Given the description of an element on the screen output the (x, y) to click on. 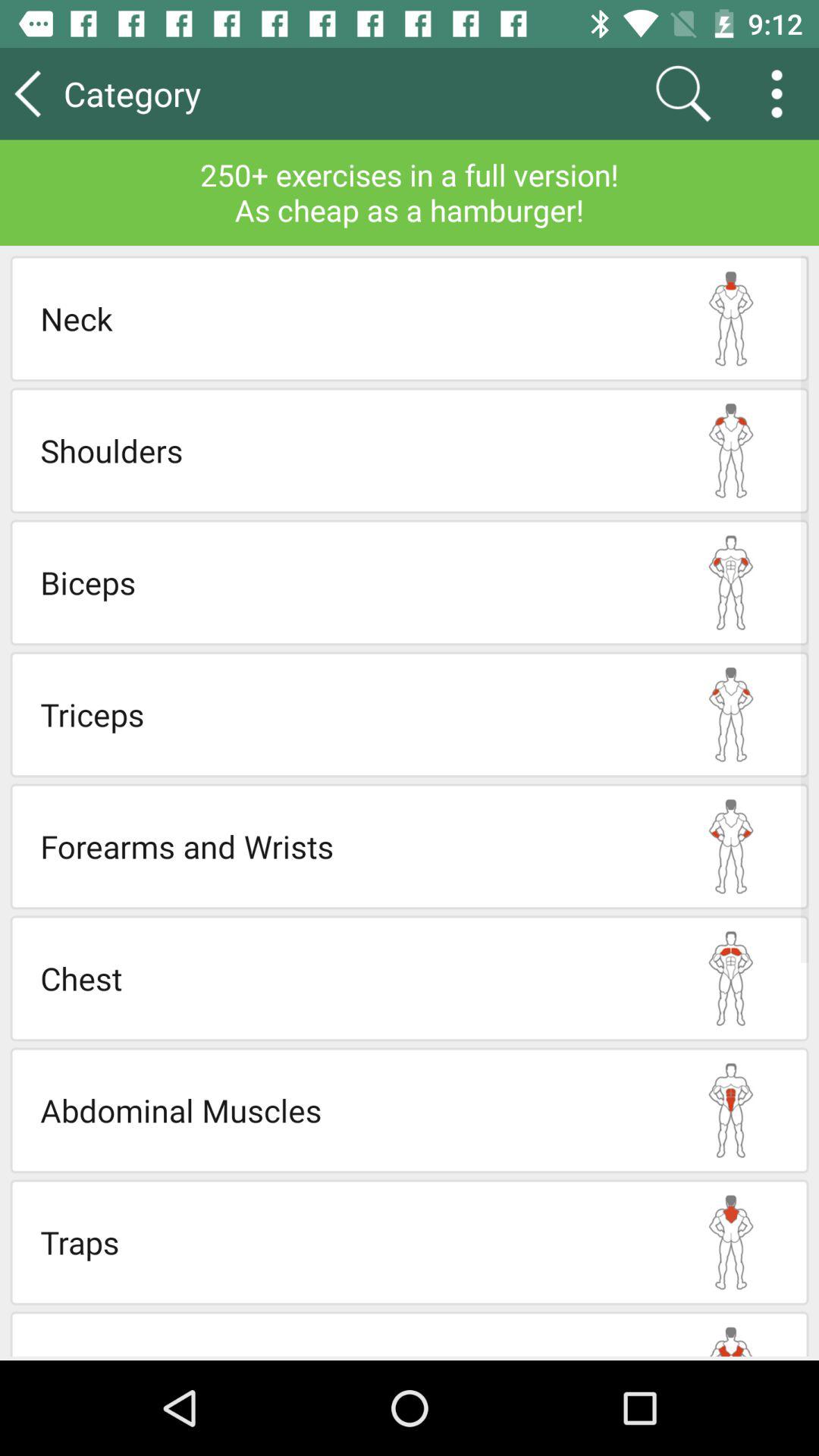
turn on icon above the 250 exercises in item (782, 93)
